Given the description of an element on the screen output the (x, y) to click on. 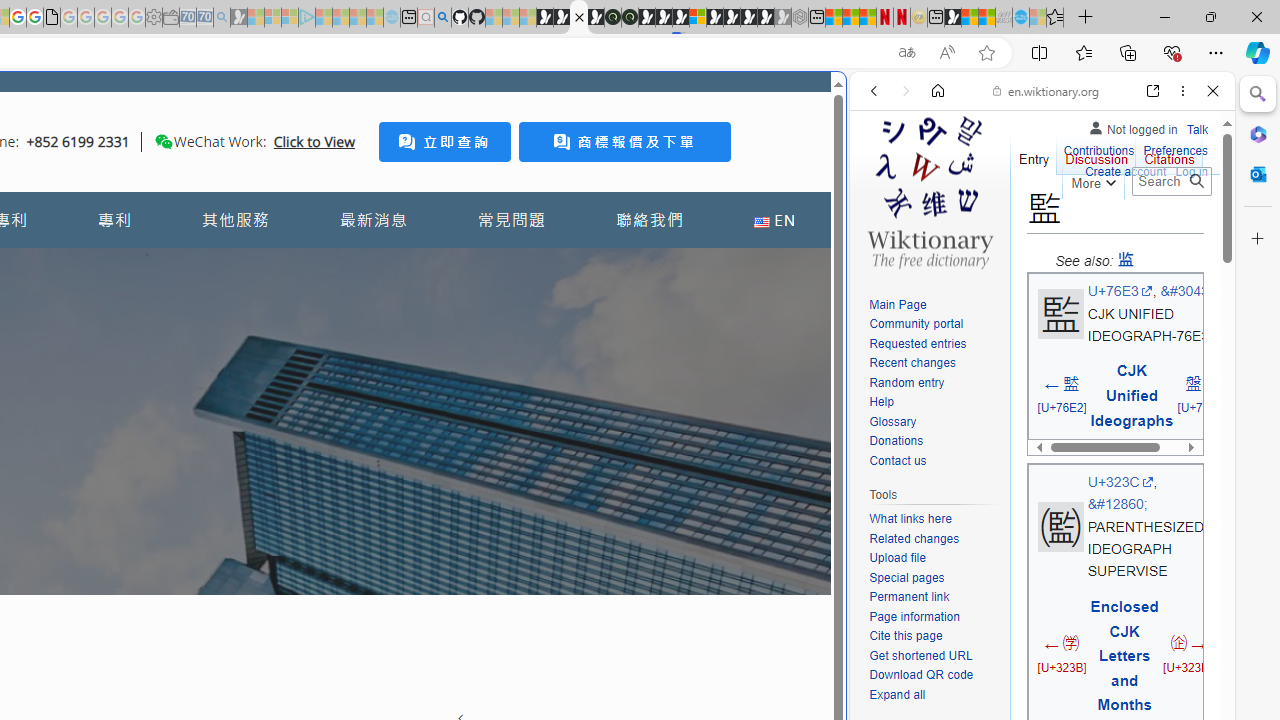
Entry (1034, 154)
Community portal (934, 324)
Glossary (892, 421)
Not logged in (1132, 126)
What links here (910, 519)
Create account (1125, 169)
Get shortened URL (934, 655)
Contributions (1098, 148)
